Given the description of an element on the screen output the (x, y) to click on. 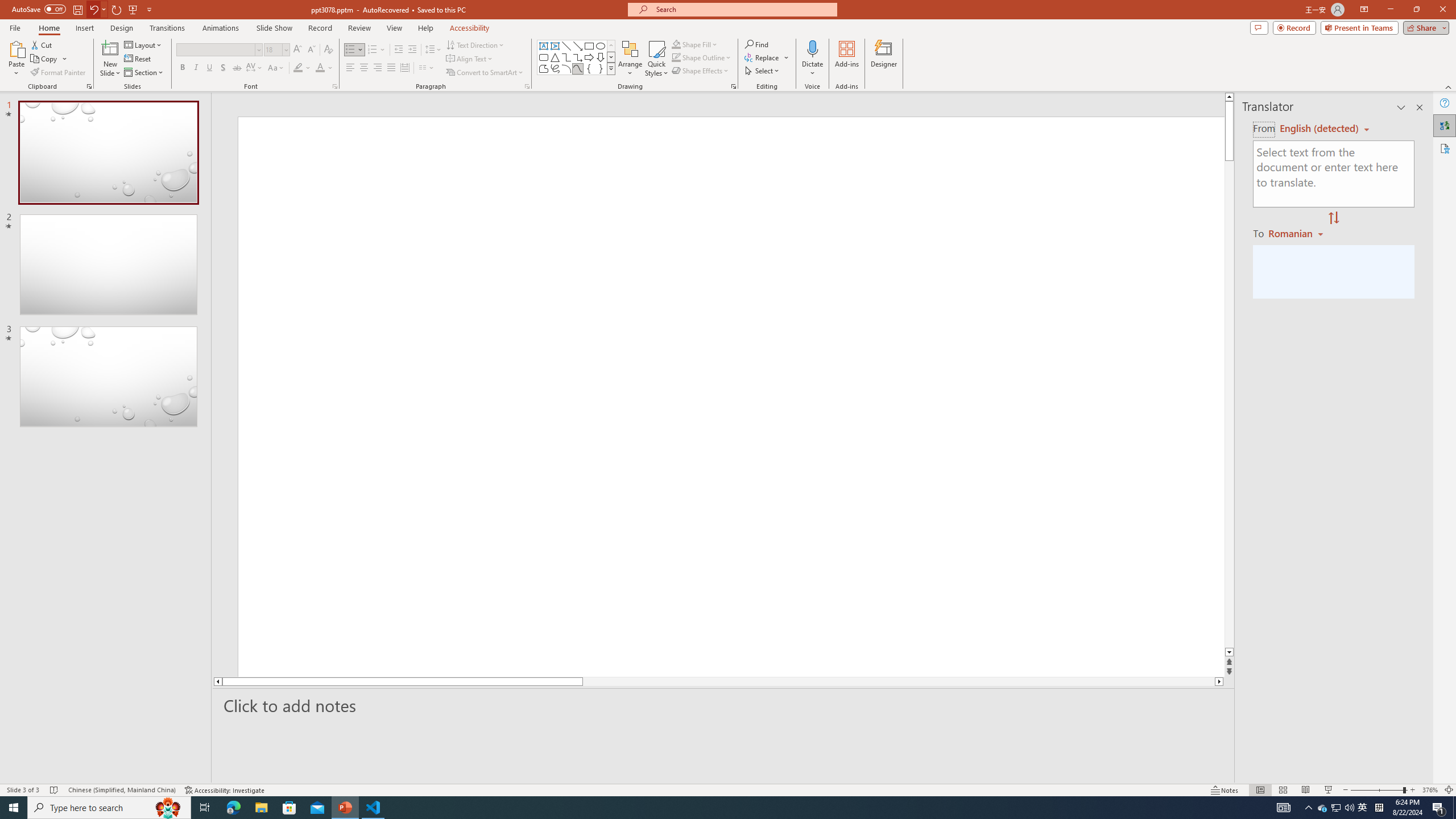
Romanian (1296, 232)
